Given the description of an element on the screen output the (x, y) to click on. 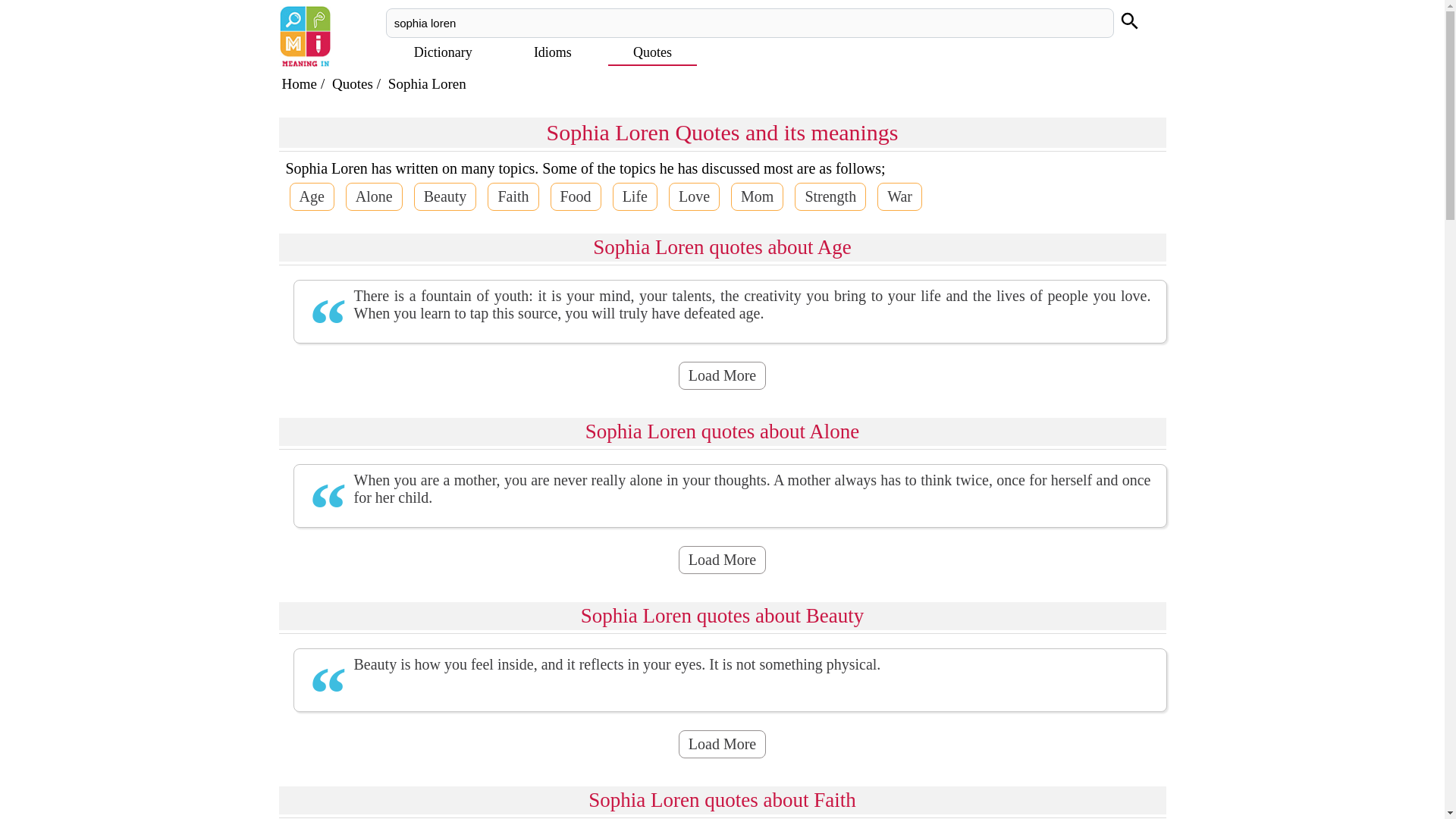
Load More (721, 560)
Life (635, 196)
Sophia Loren (426, 83)
Love (693, 196)
Faith (512, 196)
Mom (756, 196)
Quotes (652, 52)
Alone (374, 196)
Sophia Loren (426, 83)
Meaning In Dictionary (299, 83)
Load More (721, 375)
Dictionary (442, 52)
Load More (721, 744)
More quotes by Sophia Loren on food (575, 196)
Age (311, 196)
